Given the description of an element on the screen output the (x, y) to click on. 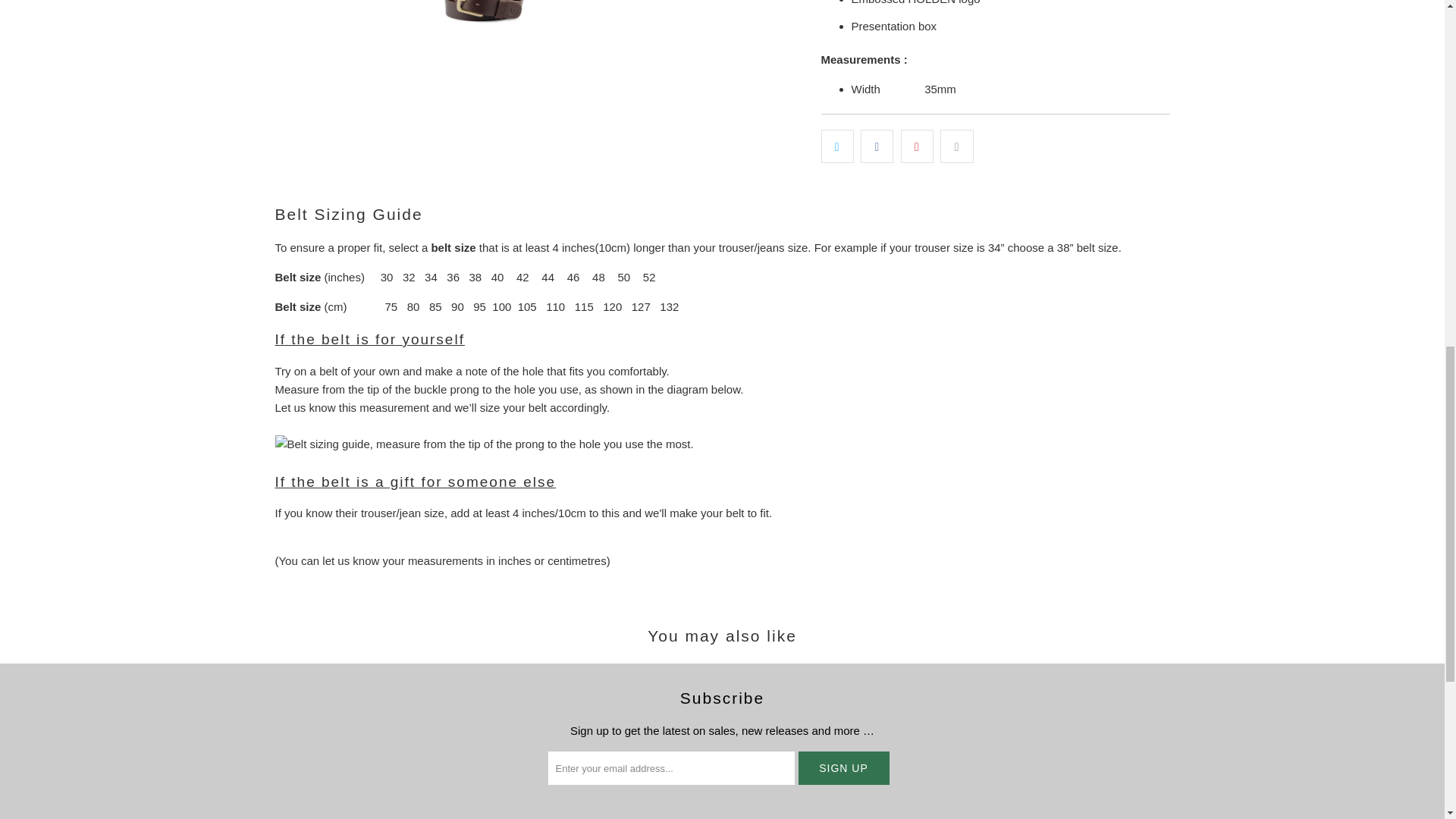
Share this on Twitter (837, 145)
Sign Up (842, 767)
Email this to a friend (956, 145)
Share this on Facebook (876, 145)
Share this on Pinterest (917, 145)
